Given the description of an element on the screen output the (x, y) to click on. 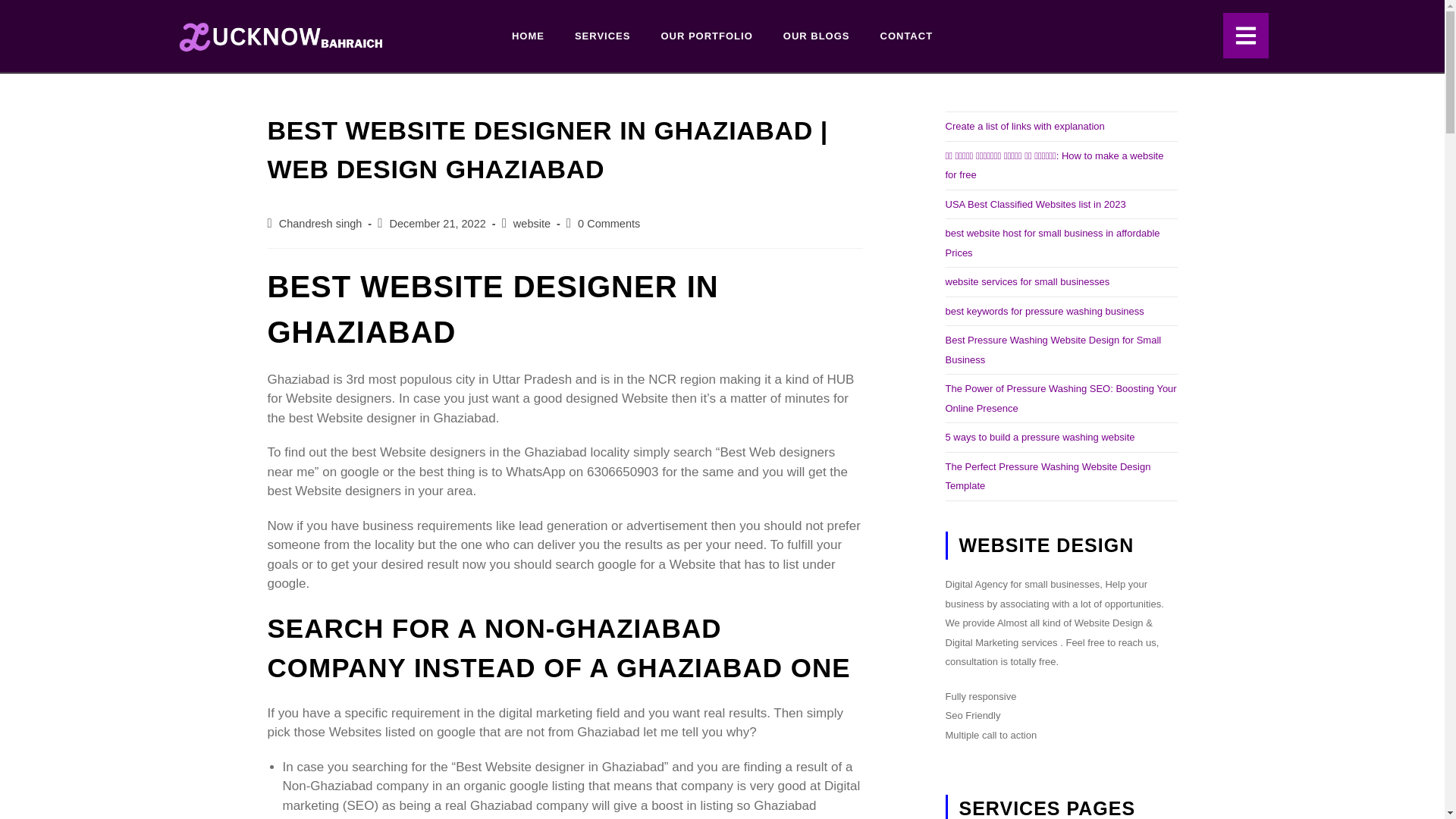
CONTACT (905, 36)
Posts by Chandresh singh (320, 223)
OUR BLOGS (816, 36)
SERVICES (602, 36)
OUR PORTFOLIO (706, 36)
